Given the description of an element on the screen output the (x, y) to click on. 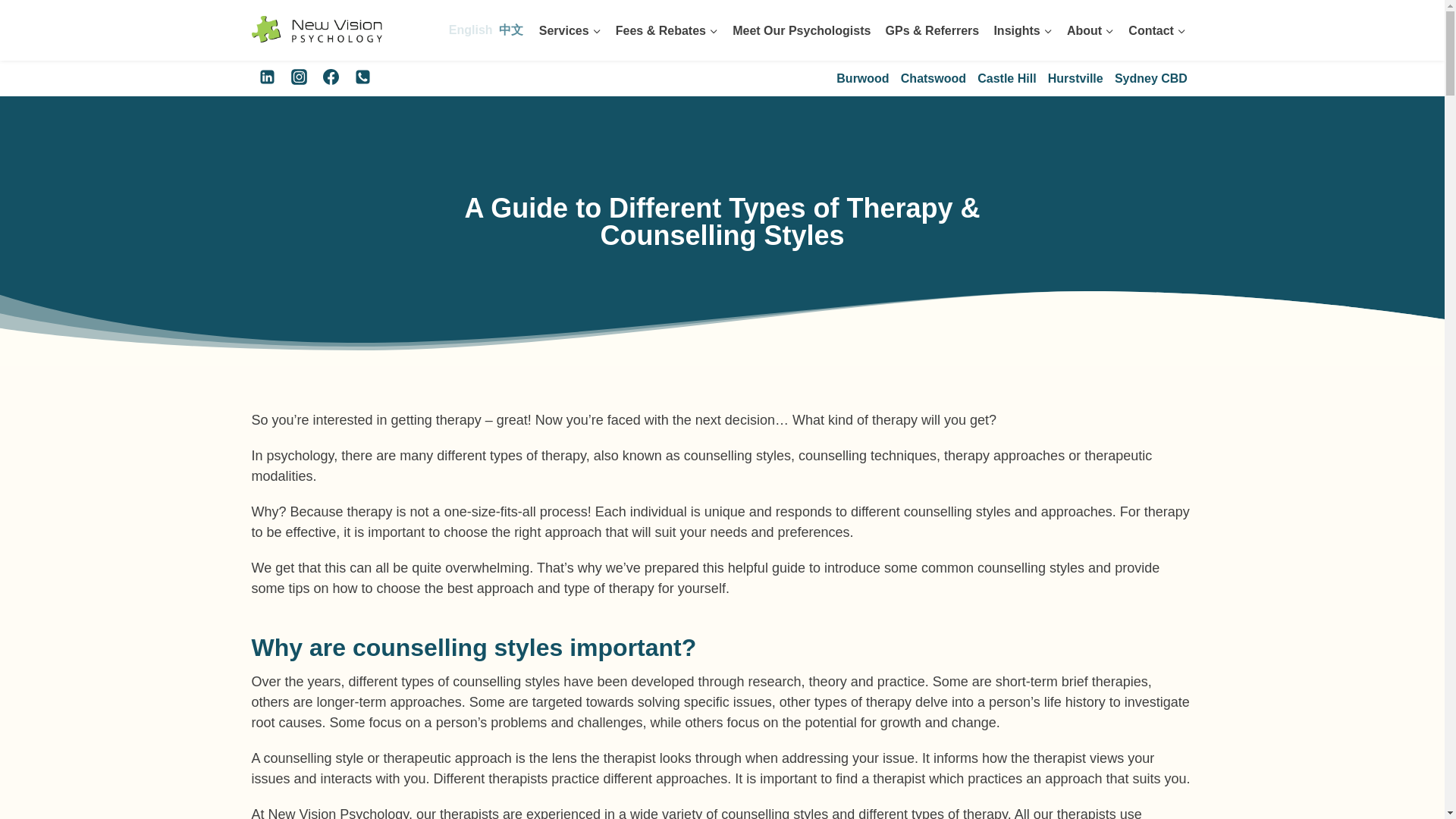
Services (569, 30)
Burwood (863, 77)
About (1090, 30)
English (468, 29)
Meet Our Psychologists (801, 30)
English (468, 29)
Insights (1023, 30)
Contact (1157, 30)
